Given the description of an element on the screen output the (x, y) to click on. 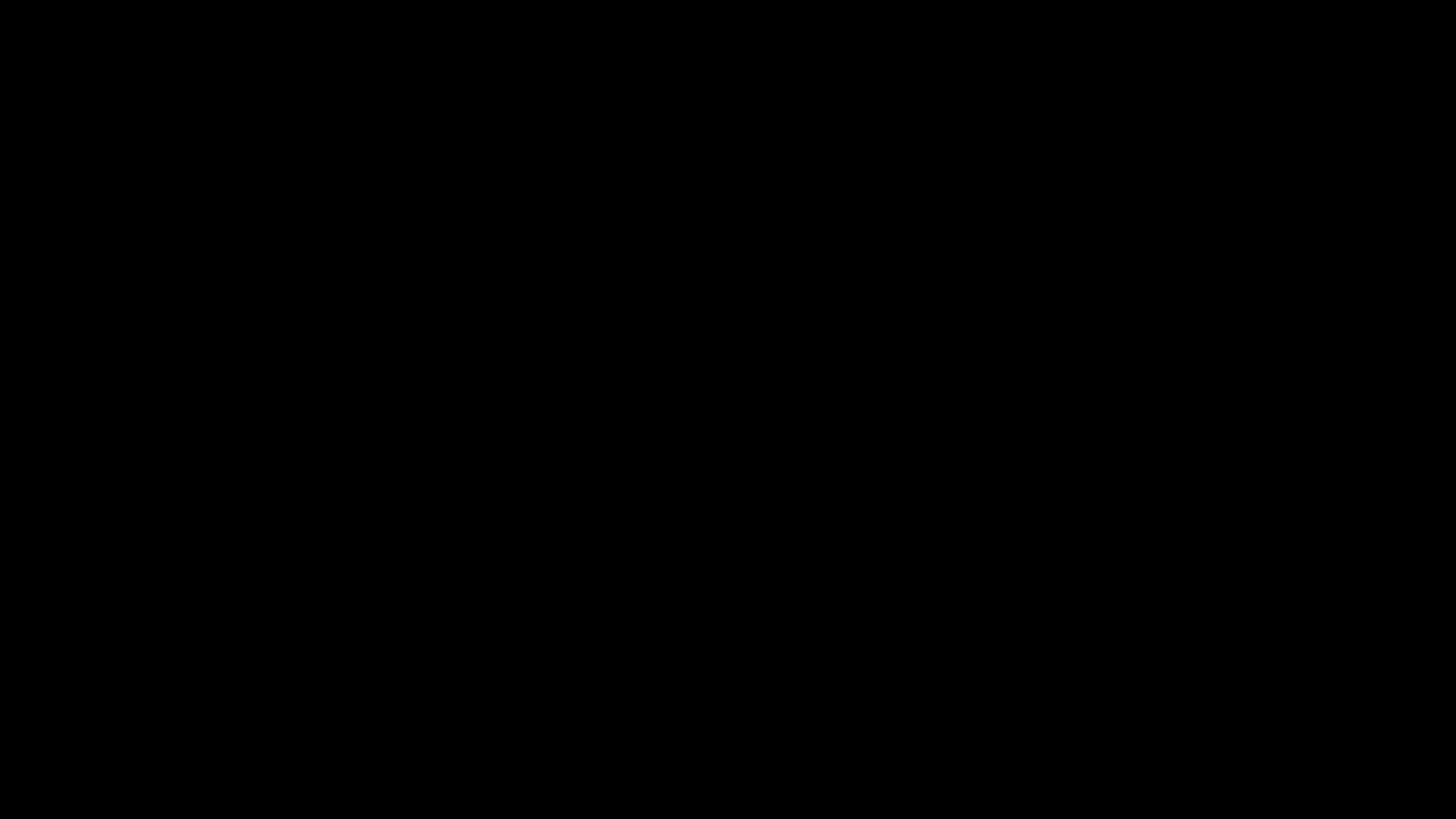
  Element type: text (1, 715)
  Element type: text (1, 797)
  Element type: text (1, 347)
  Element type: text (1, 633)
  Element type: text (1, 401)
  Element type: text (1, 183)
  Element type: text (1, 33)
  Element type: text (1, 319)
  Element type: text (1, 197)
  Element type: text (7, 265)
  Element type: text (1, 60)
  Element type: text (1, 388)
  Element type: text (1, 770)
  Element type: text (1, 688)
  Element type: text (1, 19)
  Element type: text (1, 210)
  Element type: text (1, 756)
  Element type: text (1, 87)
  Element type: text (1, 74)
  Element type: text (1, 743)
  Element type: text (1, 647)
  Element type: text (1, 524)
  Element type: text (1, 251)
  Element type: text (1, 784)
  Element type: text (1, 360)
  Element type: text (1, 674)
  Element type: text (1, 333)
  Element type: text (1, 156)
  Element type: text (1, 101)
  Element type: text (1, 552)
  Element type: text (1, 169)
  Element type: text (7, 101)
  Element type: text (1, 579)
  Element type: text (1, 415)
  Element type: text (1, 142)
  Element type: text (1, 729)
  Element type: text (21, 101)
  Element type: text (1, 374)
  Element type: text (1, 620)
  Element type: text (1, 115)
  Element type: text (1, 592)
  Element type: text (7, 169)
  Element type: text (1, 442)
  Element type: text (1, 702)
  Element type: text (1, 306)
  Element type: text (14, 101)
  Element type: text (1, 497)
  Element type: text (1, 661)
  Element type: text (1, 46)
  Element type: text (1, 565)
  Element type: text (1, 511)
  Element type: text (1, 429)
  Element type: text (1, 238)
  Element type: text (1, 6)
  Element type: text (7, 347)
  Element type: text (1, 483)
  Element type: text (1, 279)
  Element type: text (1, 606)
  Element type: text (1, 470)
  Element type: text (14, 265)
  Element type: text (1, 128)
  Element type: text (1, 456)
  Element type: text (1, 292)
  Element type: text (1, 538)
  Element type: text (1, 224)
  Element type: text (1, 265)
